Given the description of an element on the screen output the (x, y) to click on. 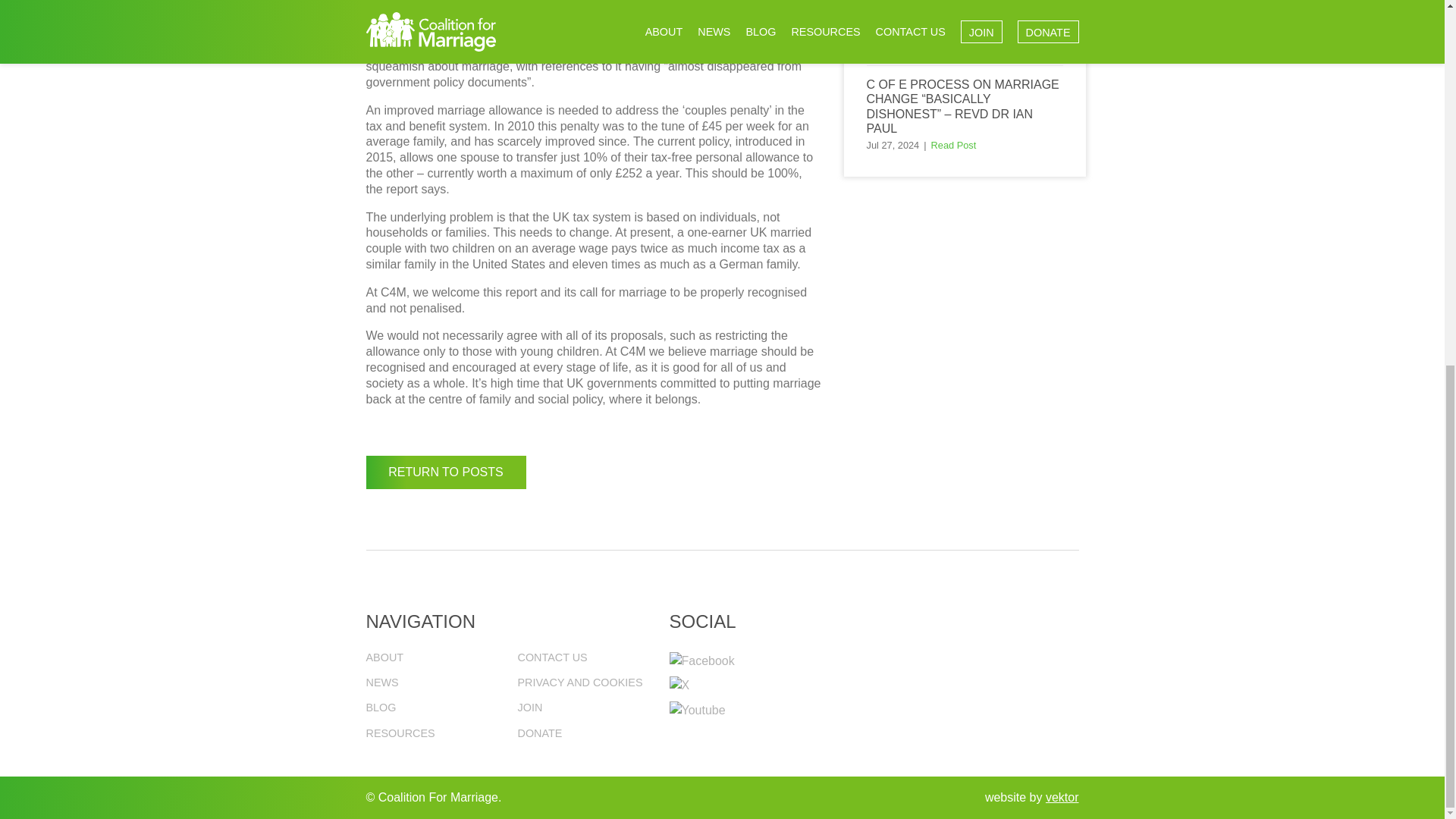
RETURN TO POSTS (445, 471)
Read Post (953, 46)
Read Post (953, 144)
